Given the description of an element on the screen output the (x, y) to click on. 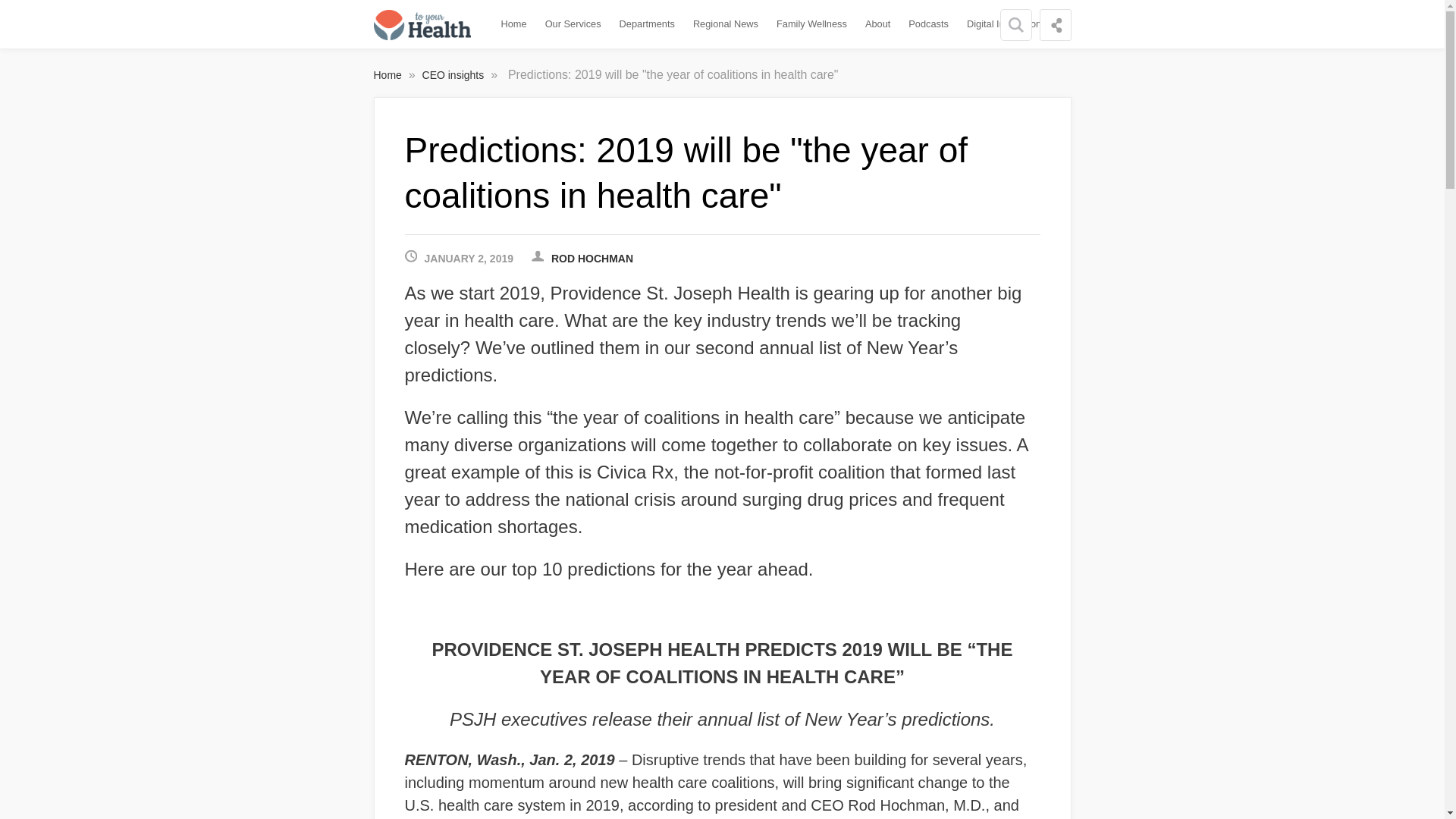
About (877, 24)
Our Services (573, 24)
Departments (646, 24)
Regional News (726, 24)
Home (513, 24)
Family Wellness (812, 24)
